Given the description of an element on the screen output the (x, y) to click on. 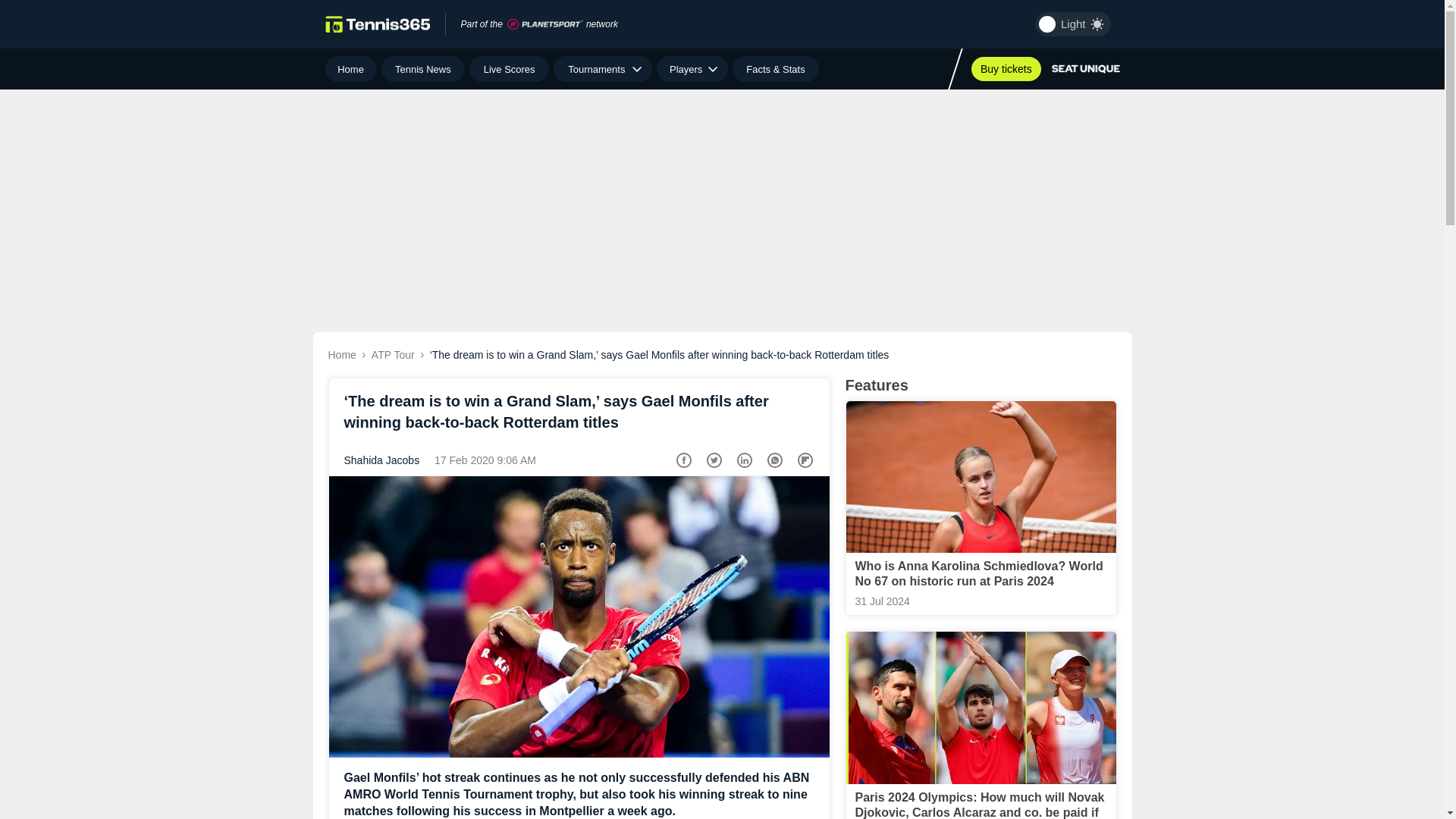
Tennis News (423, 68)
Tournaments (601, 68)
Home (349, 68)
Live Scores (508, 68)
Buy tickets (1006, 68)
Players (692, 68)
